Given the description of an element on the screen output the (x, y) to click on. 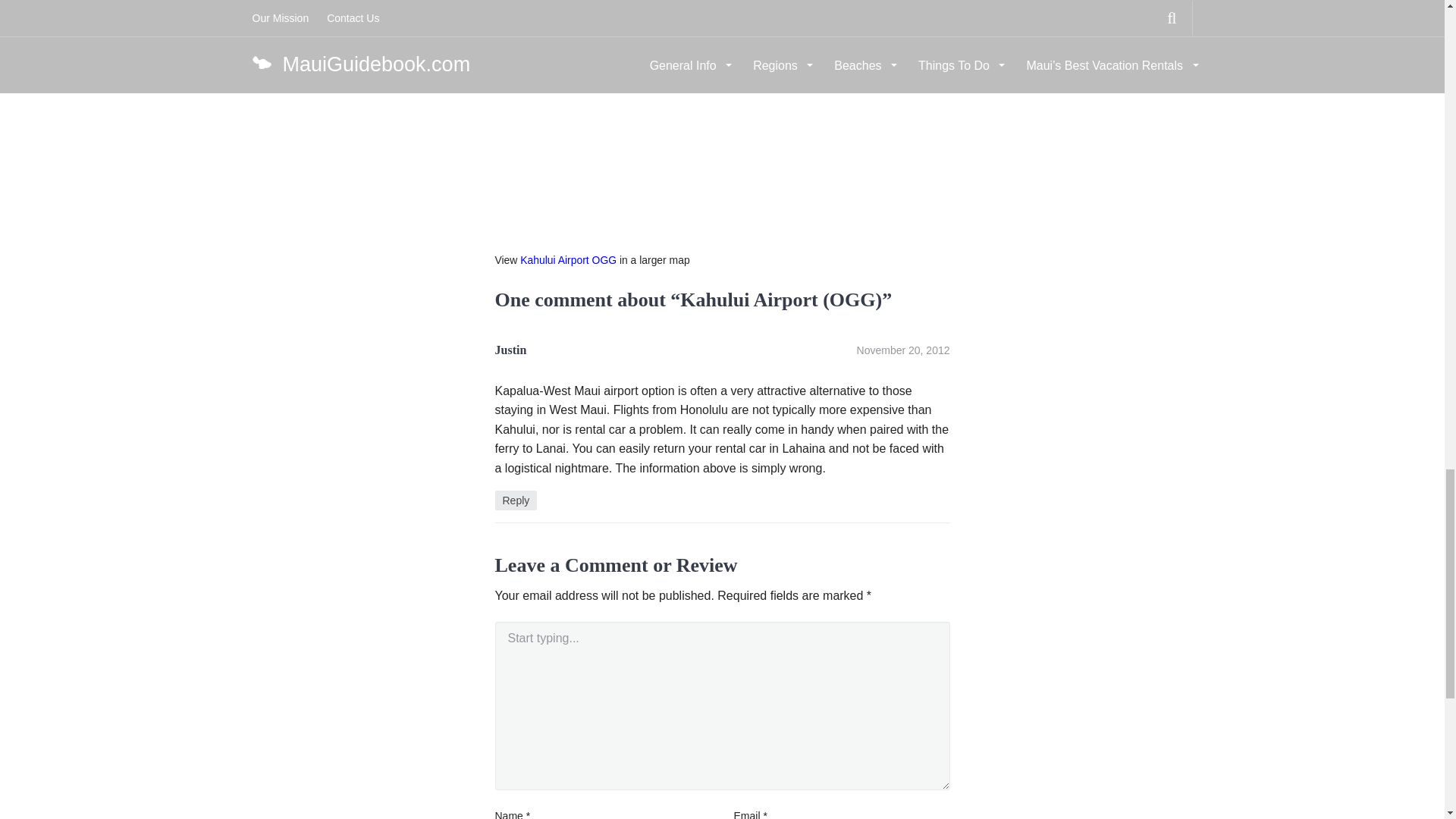
Reply (516, 500)
November 20, 2012 (903, 349)
Kahului Airport OGG (567, 259)
